Given the description of an element on the screen output the (x, y) to click on. 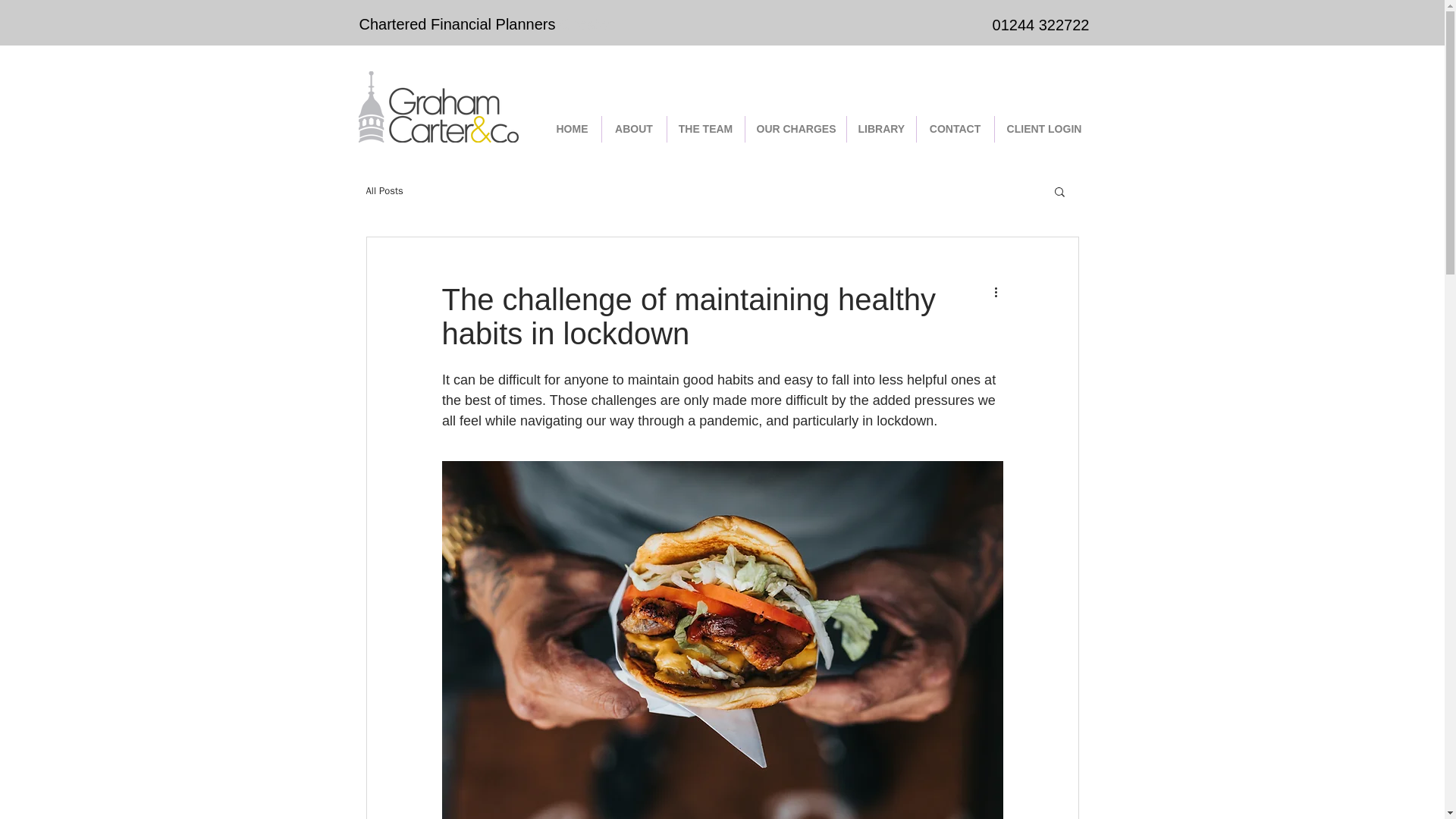
OUR CHARGES (794, 129)
LIBRARY (880, 129)
All Posts (384, 191)
ABOUT (634, 129)
THE TEAM (705, 129)
CLIENT LOGIN (1044, 129)
HOME (571, 129)
CONTACT (953, 129)
01244 322722 (1040, 24)
